Given the description of an element on the screen output the (x, y) to click on. 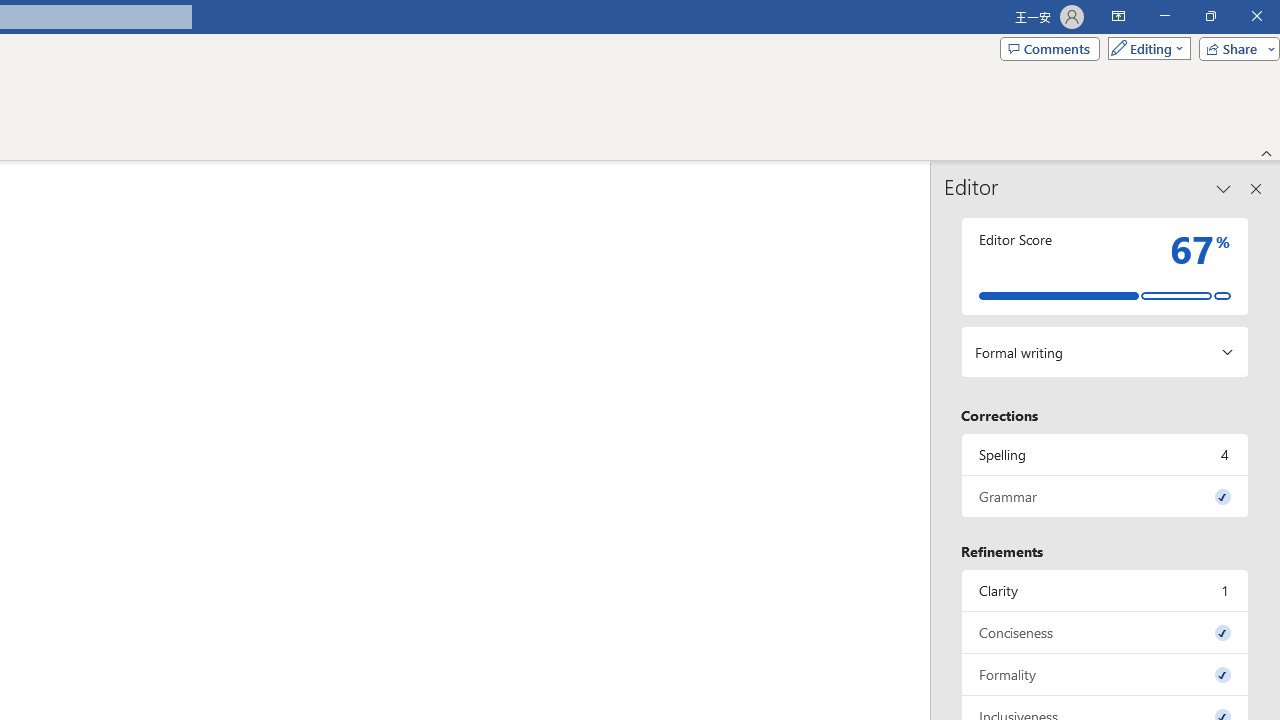
Grammar, 0 issues. Press space or enter to review items. (1105, 495)
Conciseness, 0 issues. Press space or enter to review items. (1105, 632)
Editor Score 67% (1105, 266)
Formality, 0 issues. Press space or enter to review items. (1105, 673)
Spelling, 4 issues. Press space or enter to review items. (1105, 454)
